Given the description of an element on the screen output the (x, y) to click on. 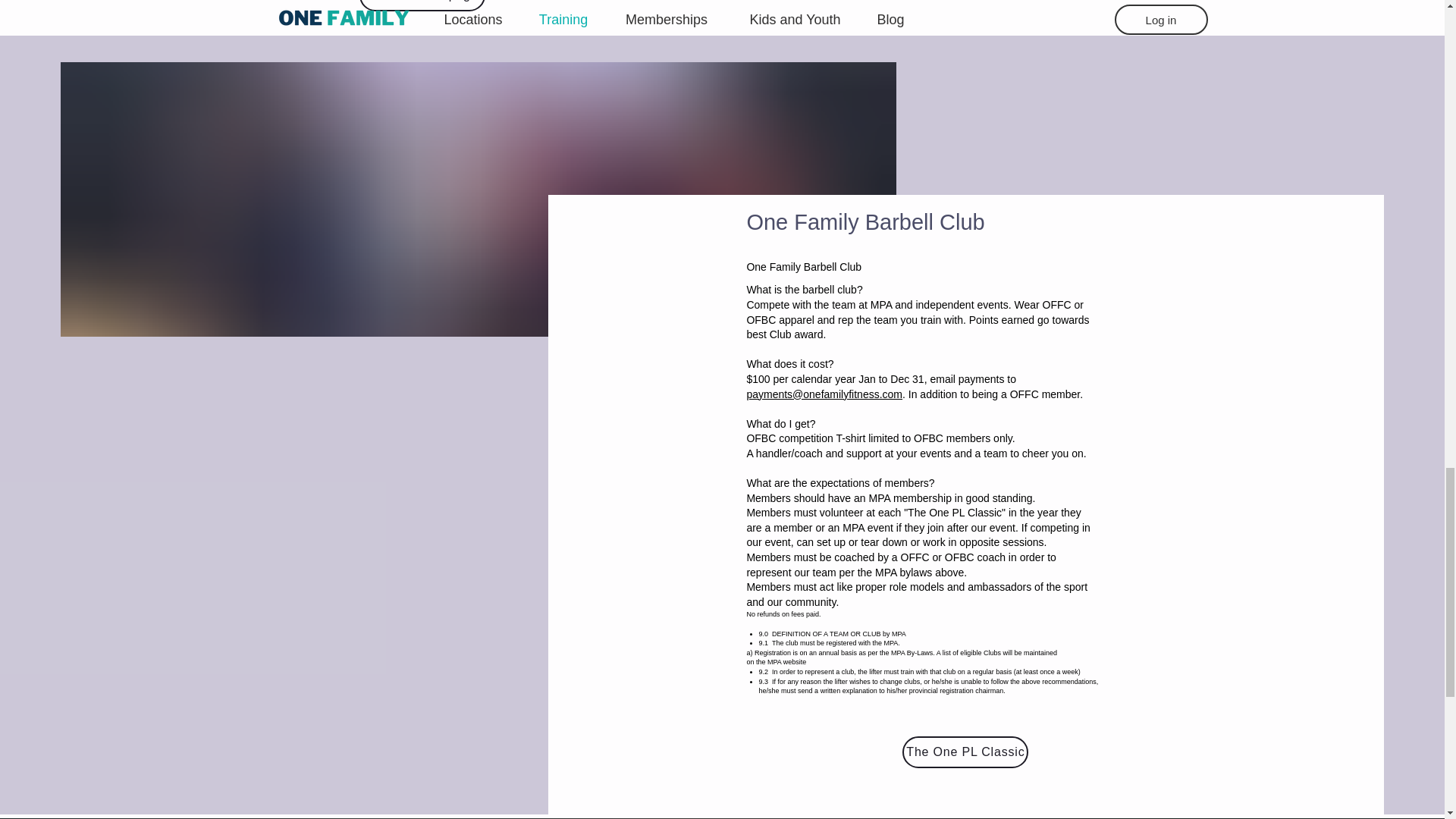
WNBF Winnipeg (421, 5)
The One PL Classic (964, 752)
